Given the description of an element on the screen output the (x, y) to click on. 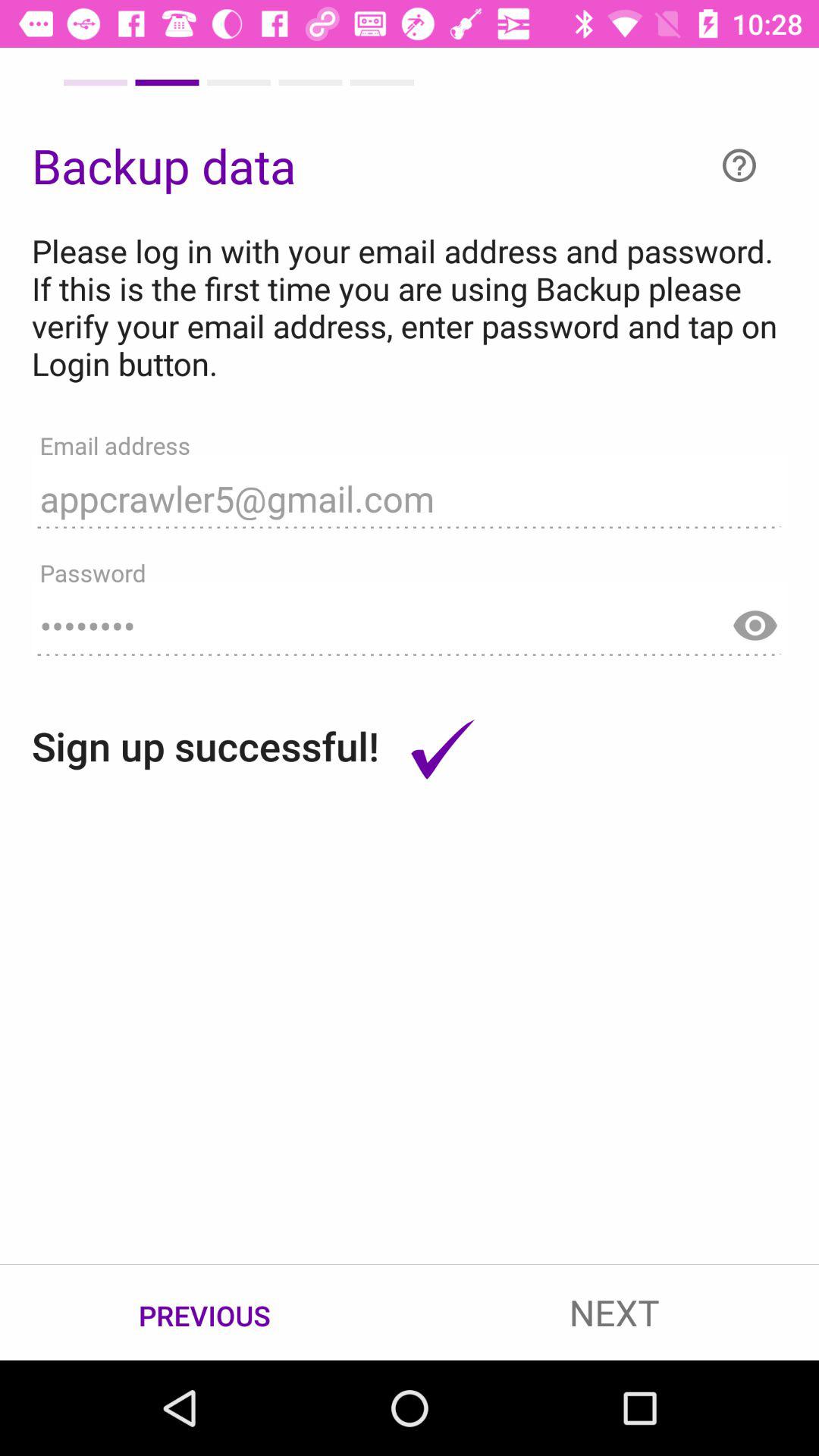
select the icon at the bottom right corner (614, 1312)
